Given the description of an element on the screen output the (x, y) to click on. 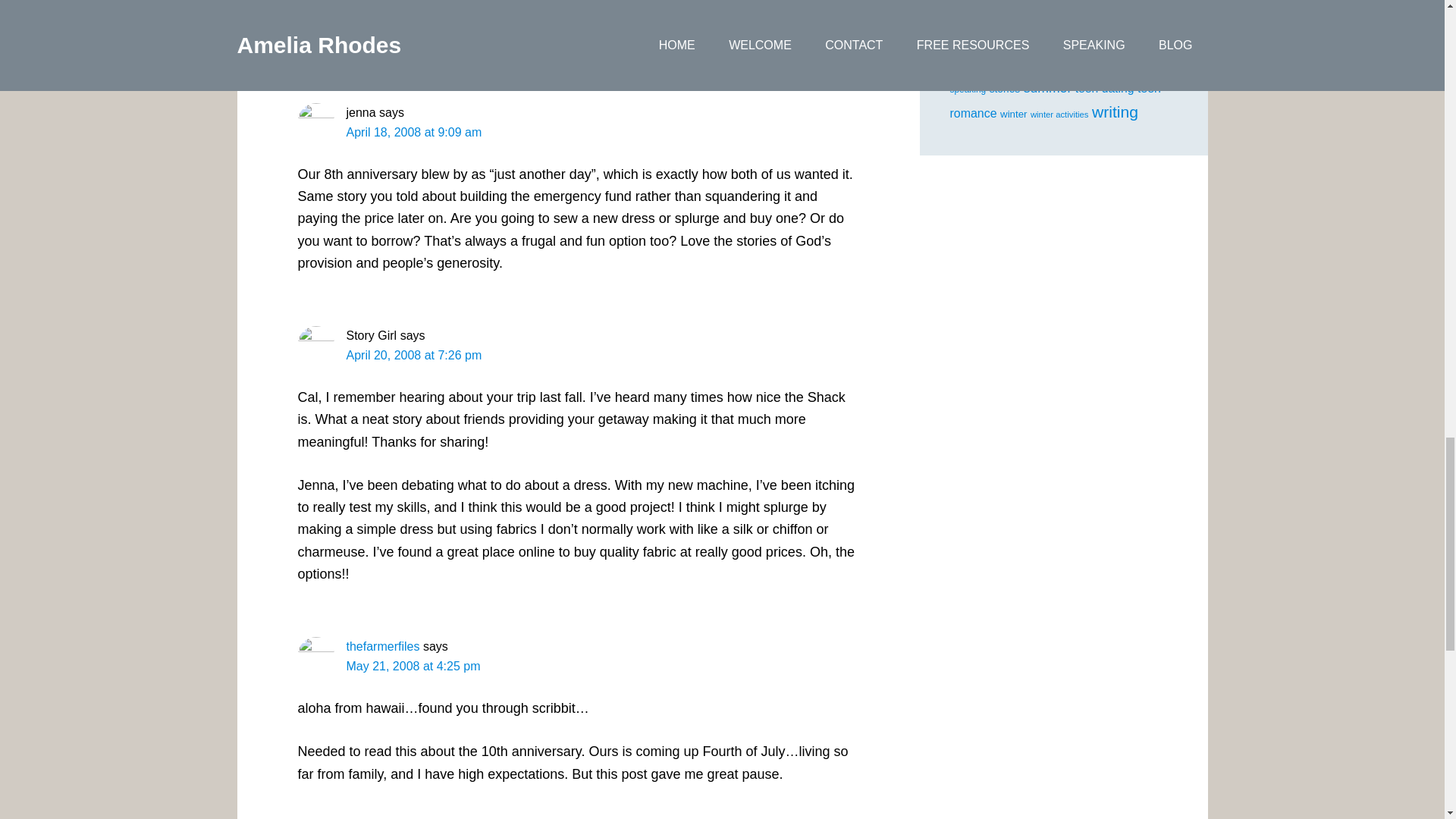
May 21, 2008 at 4:25 pm (413, 666)
April 18, 2008 at 9:09 am (413, 132)
thefarmerfiles (382, 645)
April 20, 2008 at 7:26 pm (413, 354)
